Given the description of an element on the screen output the (x, y) to click on. 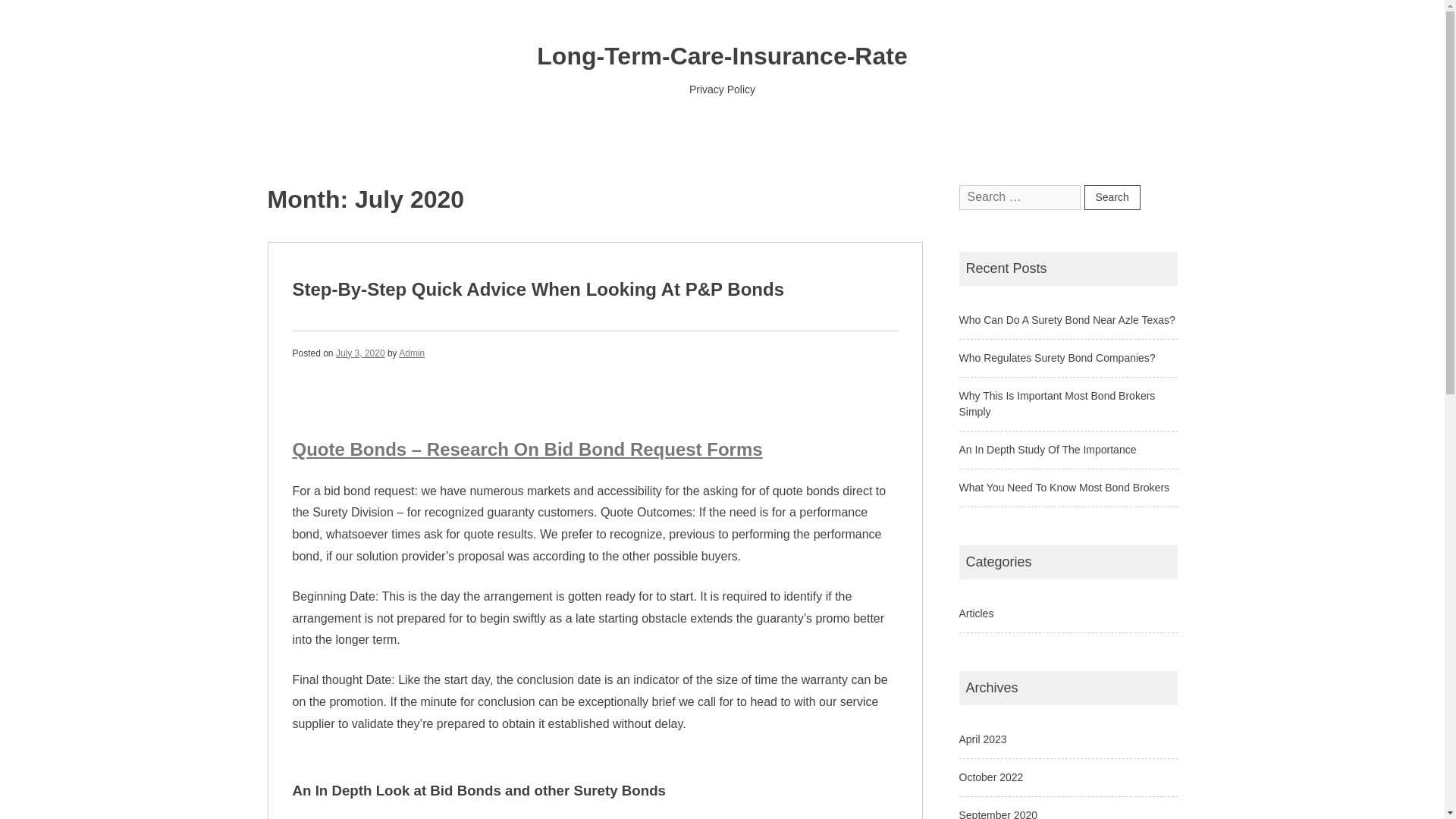
Privacy Policy (721, 89)
April 2023 (982, 739)
October 2022 (990, 776)
What You Need To Know Most Bond Brokers (1063, 487)
An In Depth Study Of The Importance (1046, 449)
Why This Is Important Most Bond Brokers Simply (1056, 403)
Who Can Do A Surety Bond Near Azle Texas? (1066, 319)
Search (1112, 197)
Admin (411, 352)
Search (1112, 197)
Search (1112, 197)
Articles (975, 613)
Who Regulates Surety Bond Companies? (1056, 357)
July 3, 2020 (360, 352)
September 2020 (997, 814)
